Given the description of an element on the screen output the (x, y) to click on. 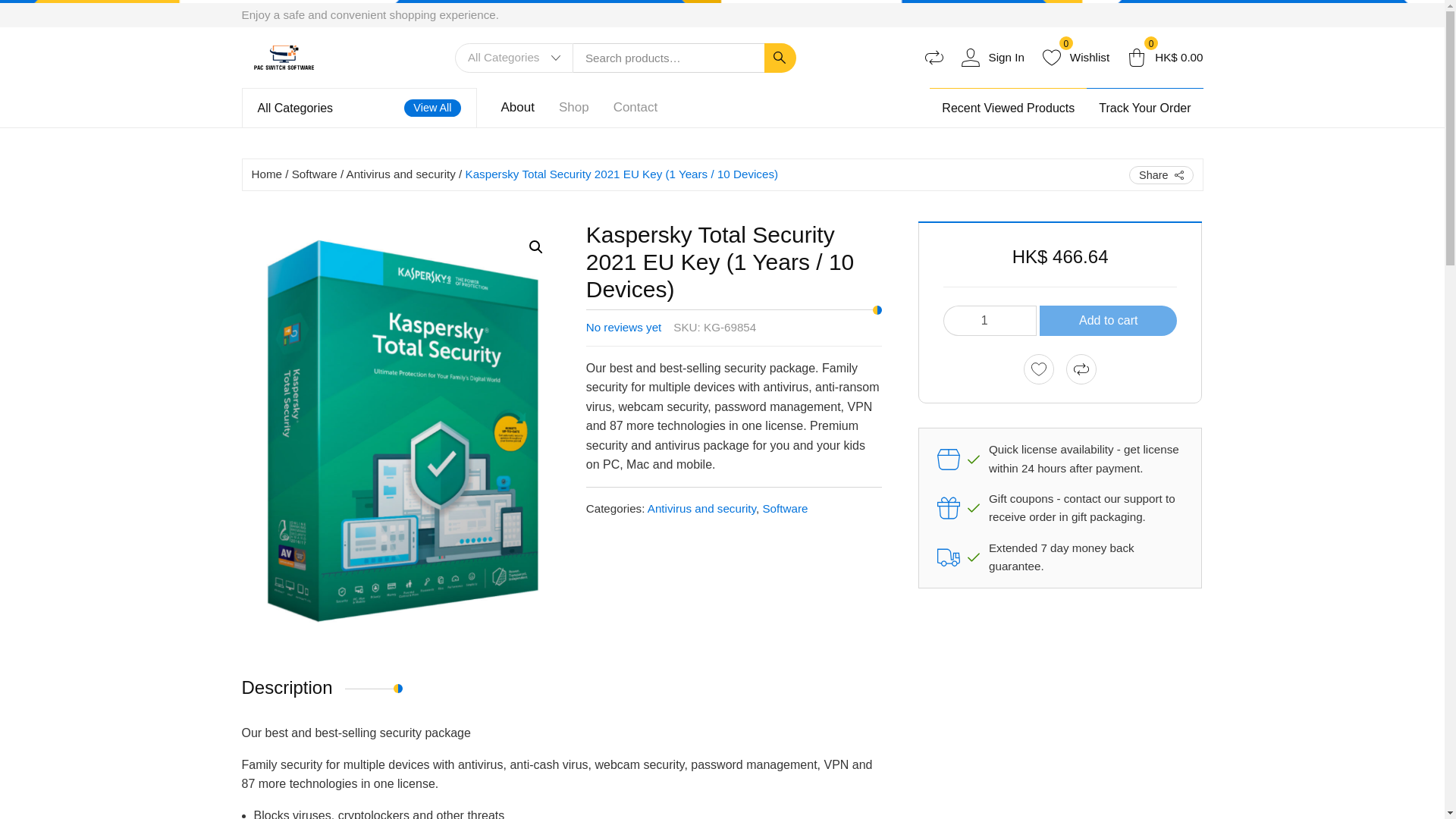
Sign In (992, 57)
Home (266, 173)
View All (432, 108)
Cart (1075, 57)
Shop (1164, 57)
Software (574, 106)
Recent Viewed Products (314, 173)
1 (1008, 106)
Wishlist (989, 320)
Search (1075, 57)
About (885, 30)
Sign In (516, 106)
Pacswitch Software (992, 57)
Track Your Order (283, 57)
